Given the description of an element on the screen output the (x, y) to click on. 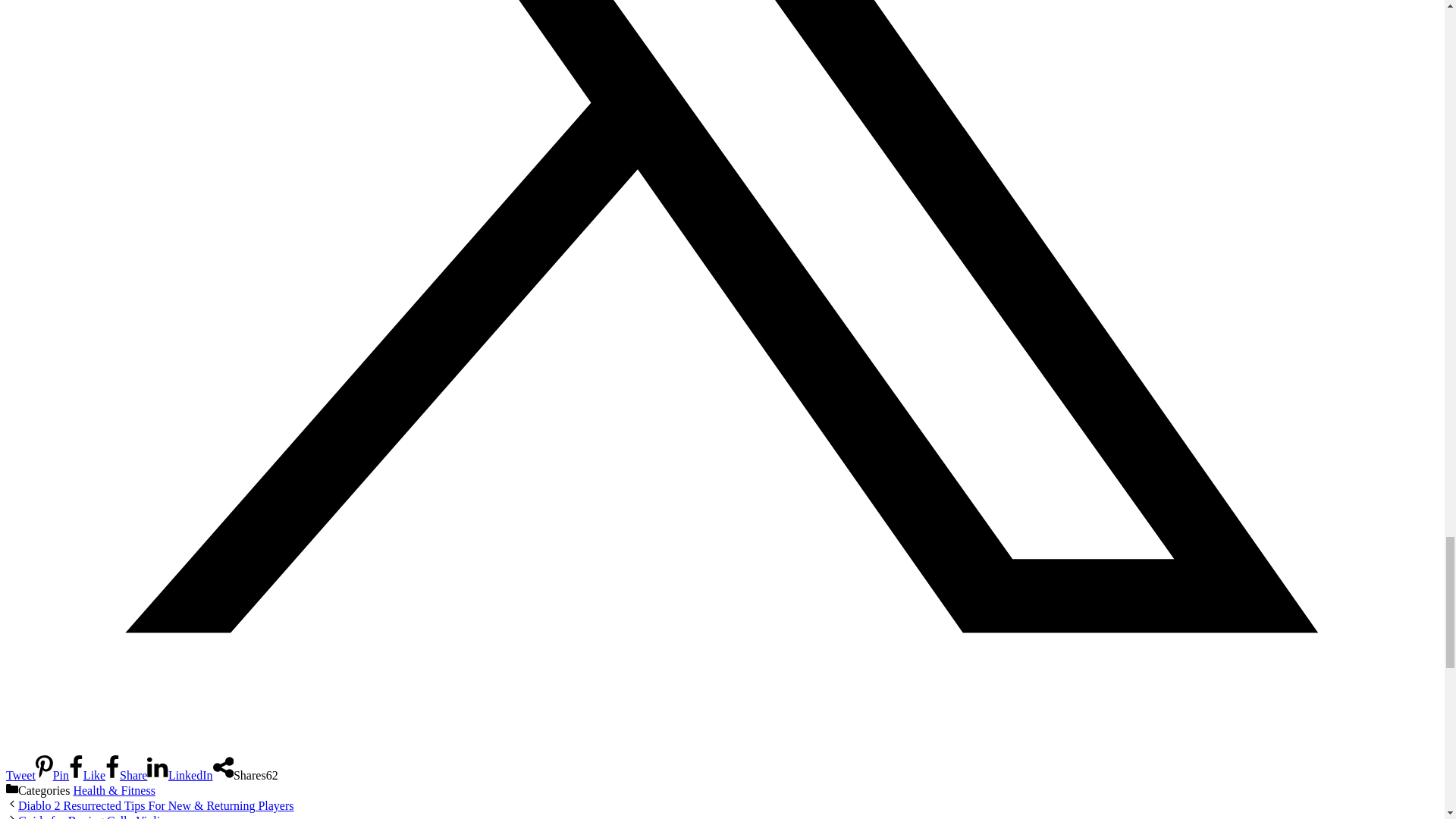
Like (86, 775)
Pin (51, 775)
Share (125, 775)
LinkedIn (179, 775)
Guide for Buying Cello Violins (93, 816)
